Given the description of an element on the screen output the (x, y) to click on. 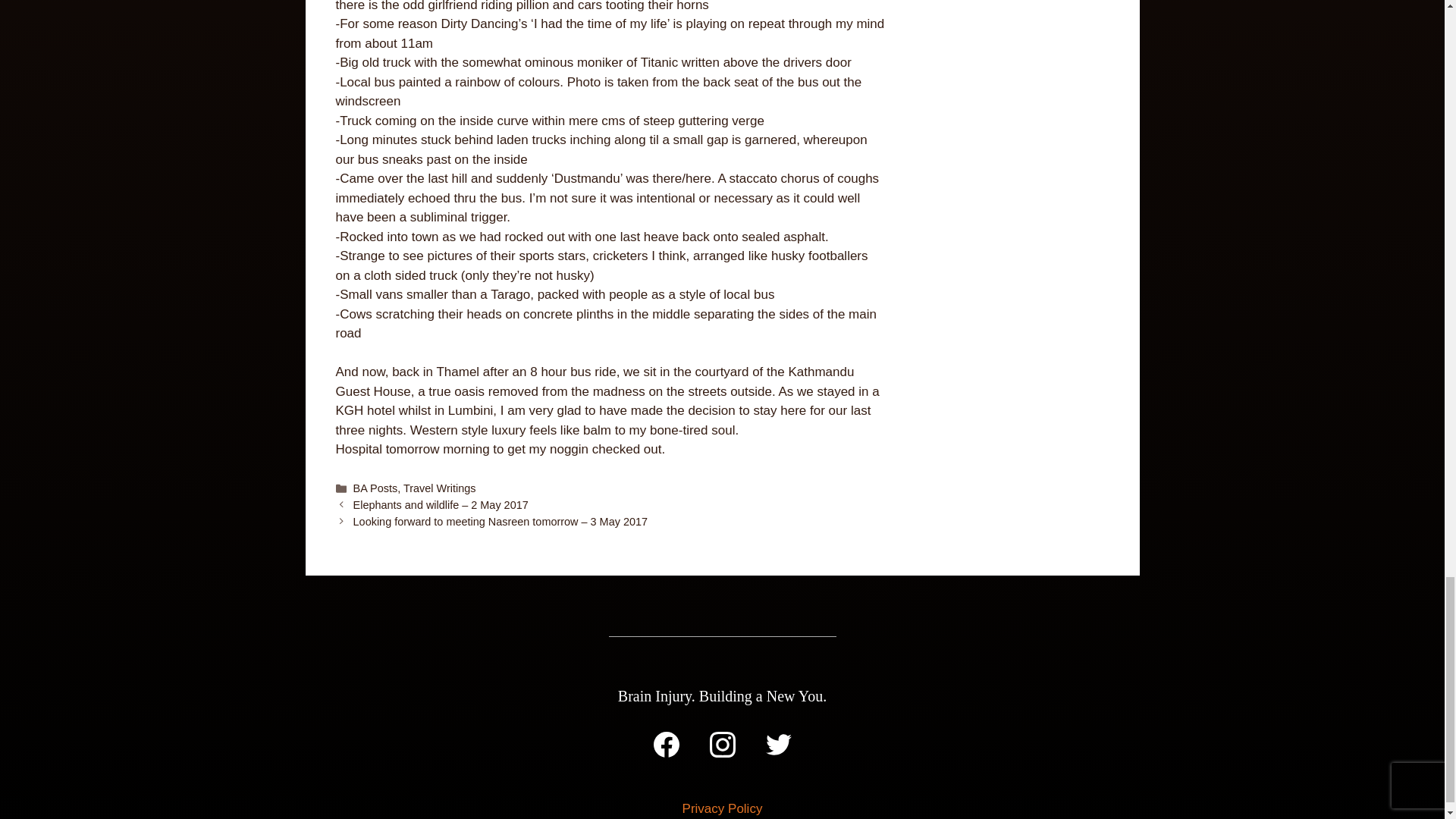
Privacy Policy (722, 808)
Travel Writings (439, 488)
BA Posts (375, 488)
